Given the description of an element on the screen output the (x, y) to click on. 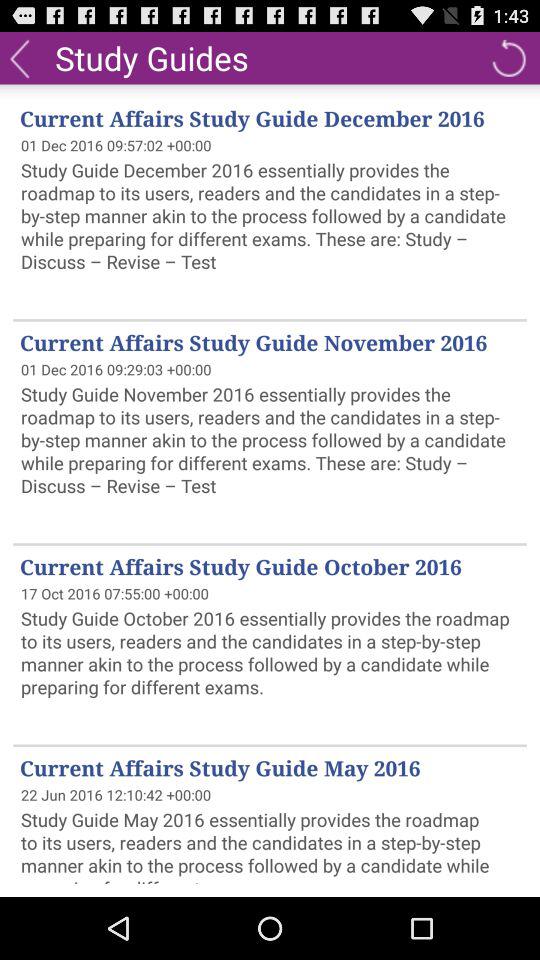
go back (19, 57)
